Given the description of an element on the screen output the (x, y) to click on. 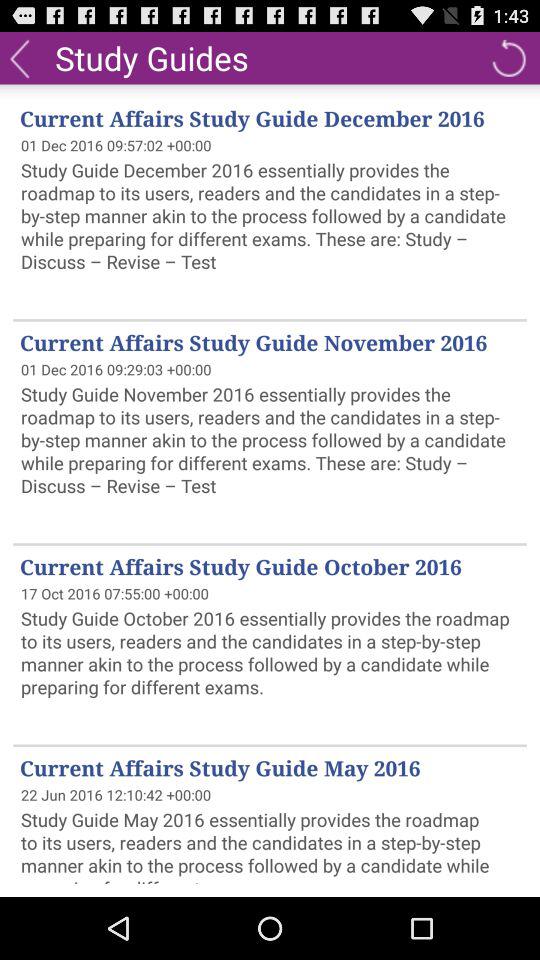
go back (19, 57)
